Given the description of an element on the screen output the (x, y) to click on. 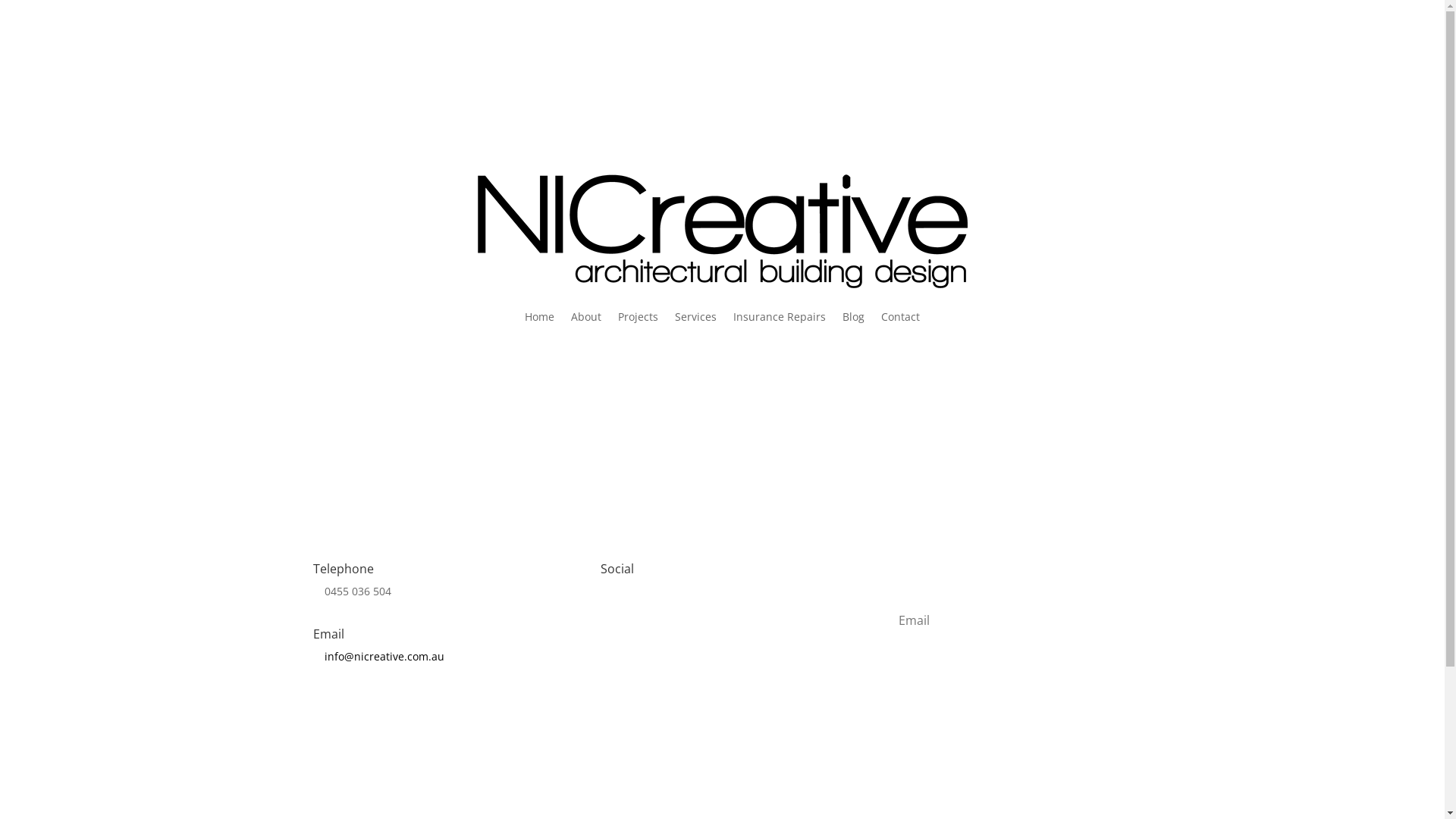
Projects Element type: text (638, 316)
info@nicreative.com.au Element type: text (384, 656)
Follow on LinkedIn Element type: hover (673, 616)
Insurance Repairs Element type: text (779, 316)
Blog Element type: text (853, 316)
Follow on Facebook Element type: hover (642, 616)
About Element type: text (586, 316)
Follow on Instagram Element type: hover (612, 616)
Services Element type: text (695, 316)
Follow on Pinterest Element type: hover (703, 616)
Subscribe Element type: text (1009, 668)
Home Element type: text (539, 316)
Follow on LinkedIn Element type: hover (1058, 98)
Follow on Youtube Element type: hover (733, 616)
Contact Element type: text (900, 316)
Follow on Instagram Element type: hover (997, 98)
Follow on Facebook Element type: hover (1028, 98)
Follow on Youtube Element type: hover (1119, 98)
Follow on Pinterest Element type: hover (1088, 98)
